Given the description of an element on the screen output the (x, y) to click on. 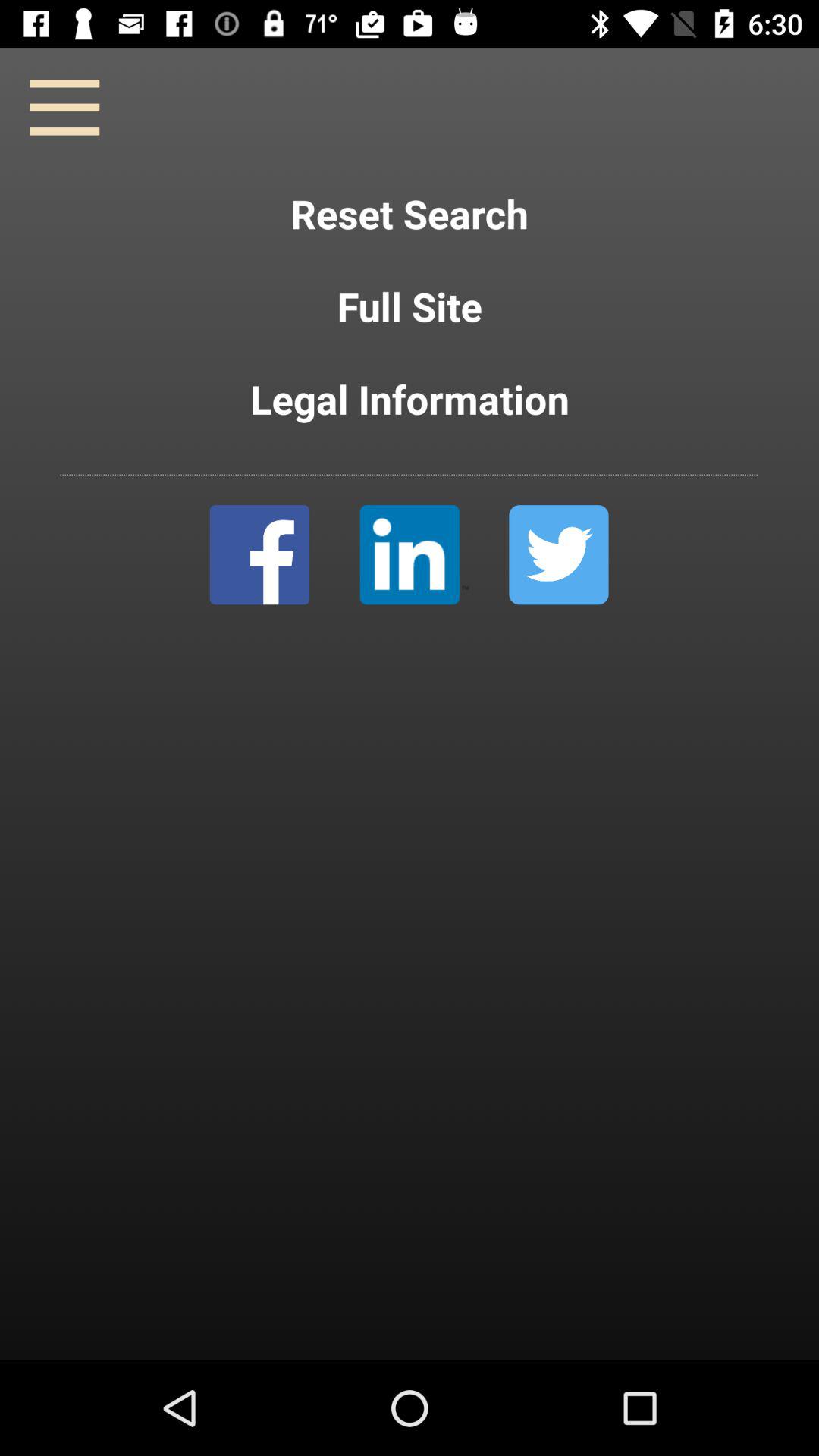
twitter (558, 554)
